Given the description of an element on the screen output the (x, y) to click on. 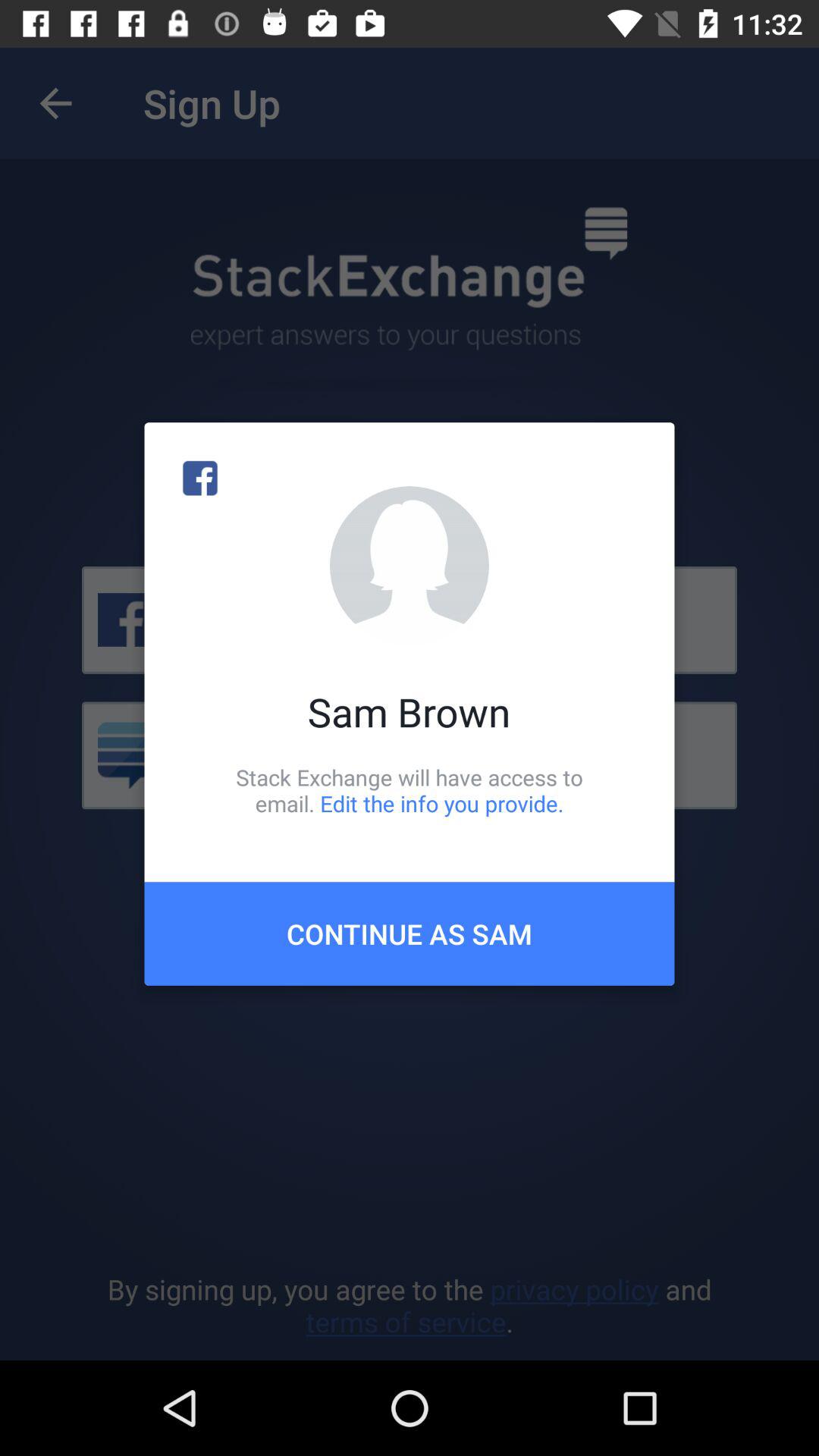
press the stack exchange will item (409, 790)
